Given the description of an element on the screen output the (x, y) to click on. 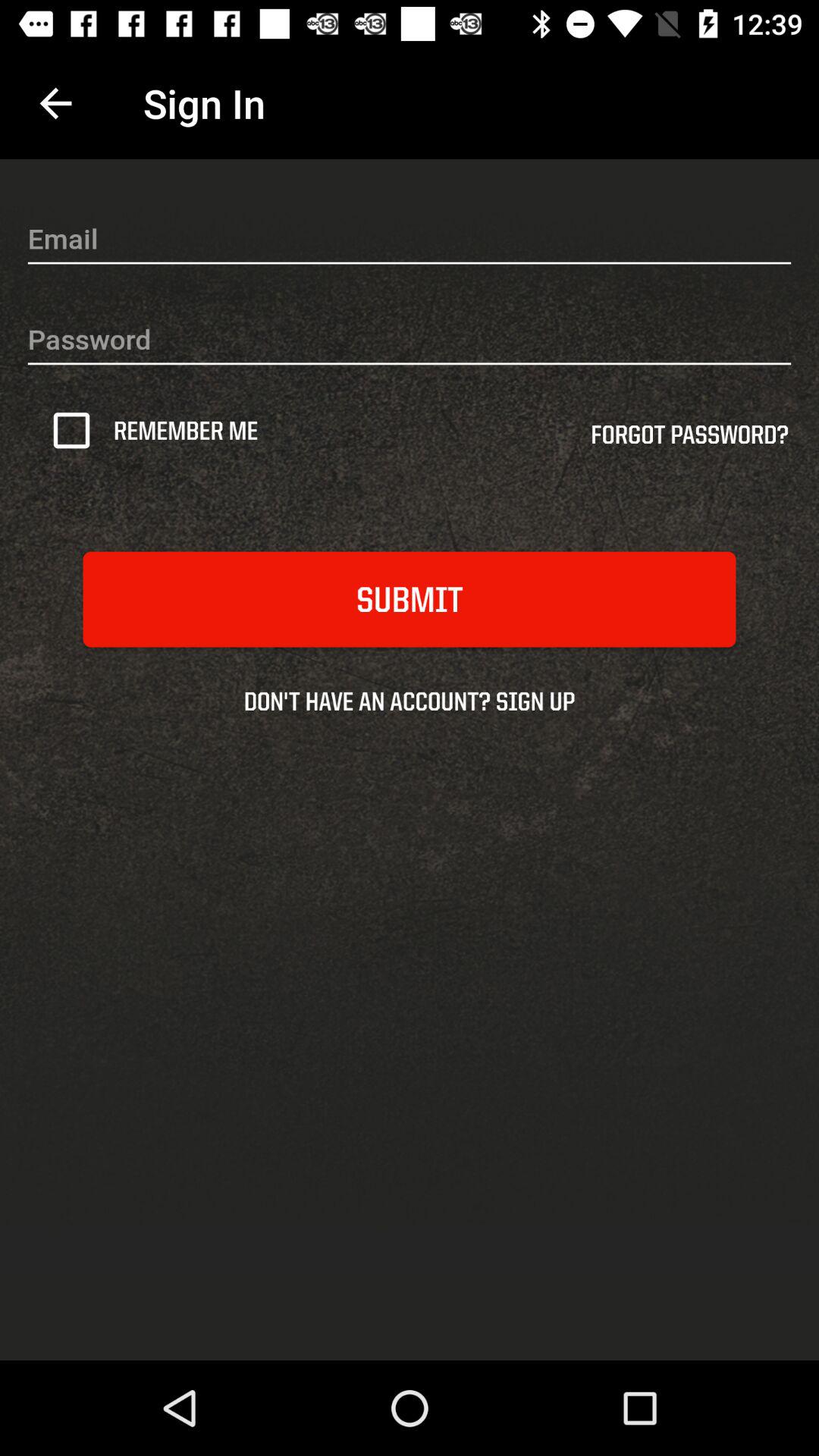
turn on icon above the submit (76, 430)
